Given the description of an element on the screen output the (x, y) to click on. 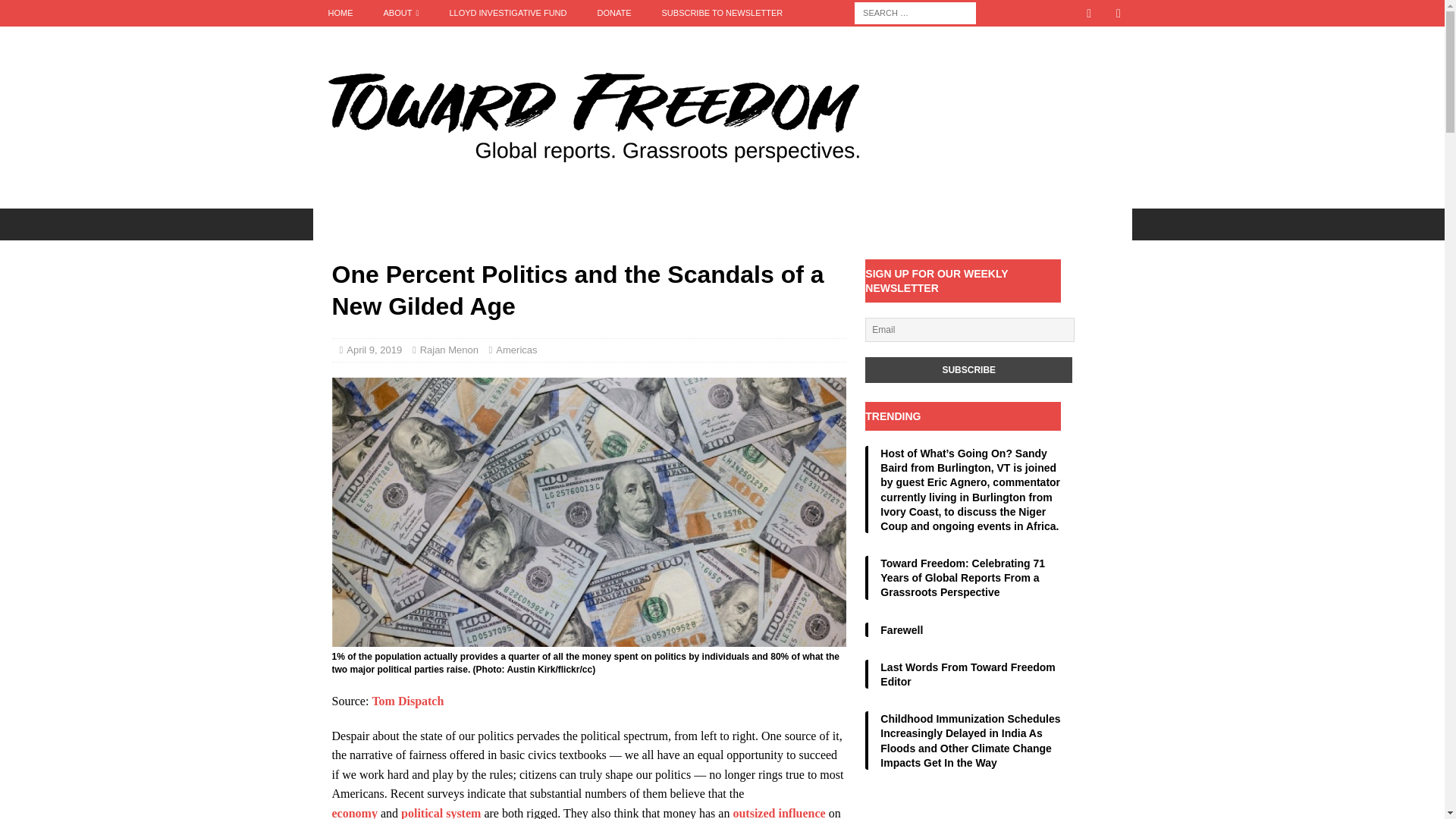
April 9, 2019 (373, 349)
Rajan Menon (449, 349)
WEST ASIA (794, 224)
AFRICA (493, 224)
political system (440, 812)
Tom Dispatch (407, 700)
LLOYD INVESTIGATIVE FUND (506, 13)
DONATE (614, 13)
OUR INVESTIGATIONS (385, 224)
outsized influence (778, 812)
AMERICAS (573, 224)
REVIEWS (880, 224)
Search (56, 11)
HOME (340, 13)
Americas (516, 349)
